Given the description of an element on the screen output the (x, y) to click on. 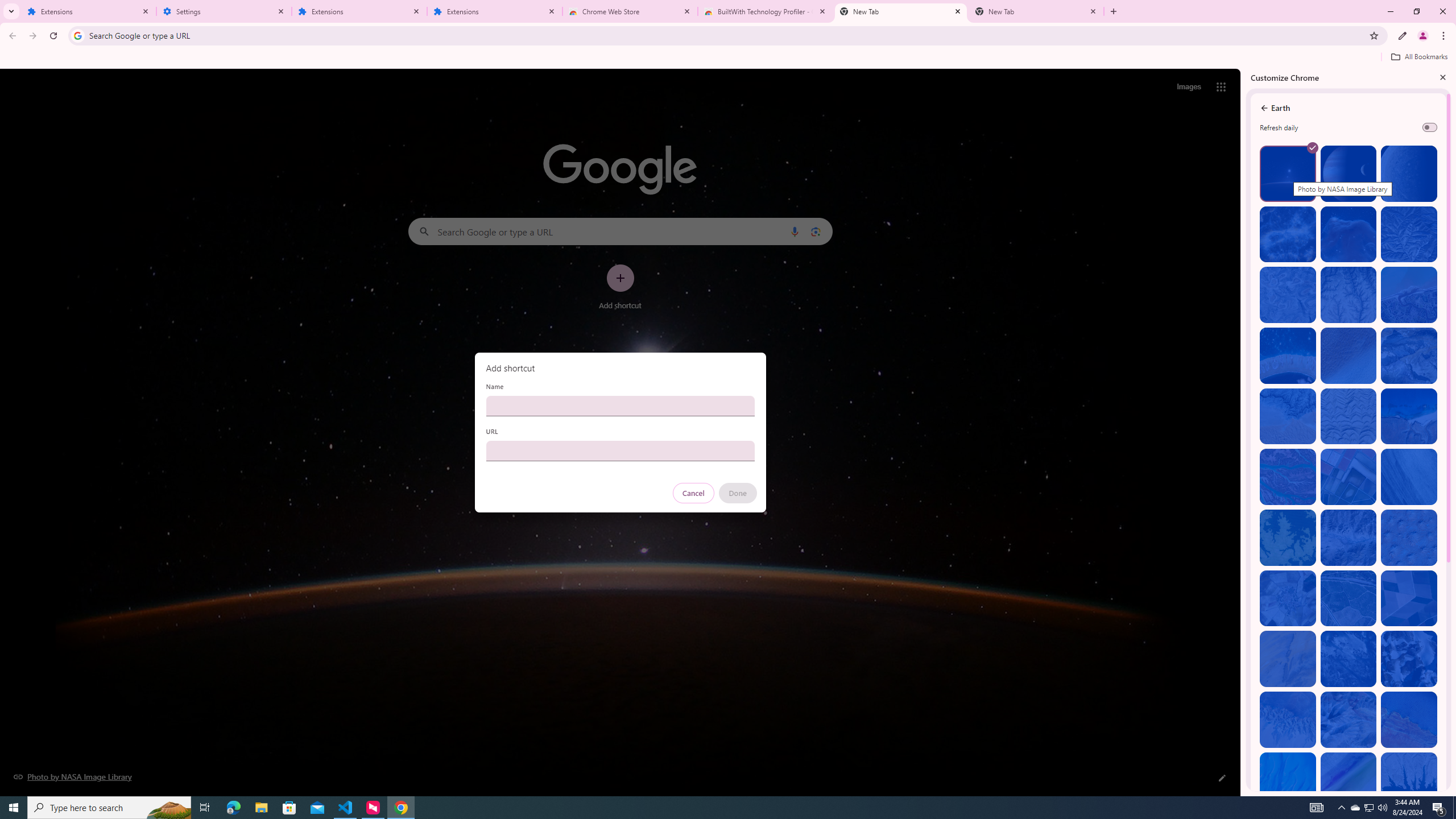
Hardap, Namibia (1287, 416)
Isla Cristina, Spain (1348, 598)
Extensions (88, 11)
Atar, Mauritania (1287, 658)
Extensions (359, 11)
Extensions (494, 11)
Sanaag, Somalia (1348, 294)
Davis County, United States (1348, 780)
Done (737, 493)
Kerman, Iran (1348, 416)
